Given the description of an element on the screen output the (x, y) to click on. 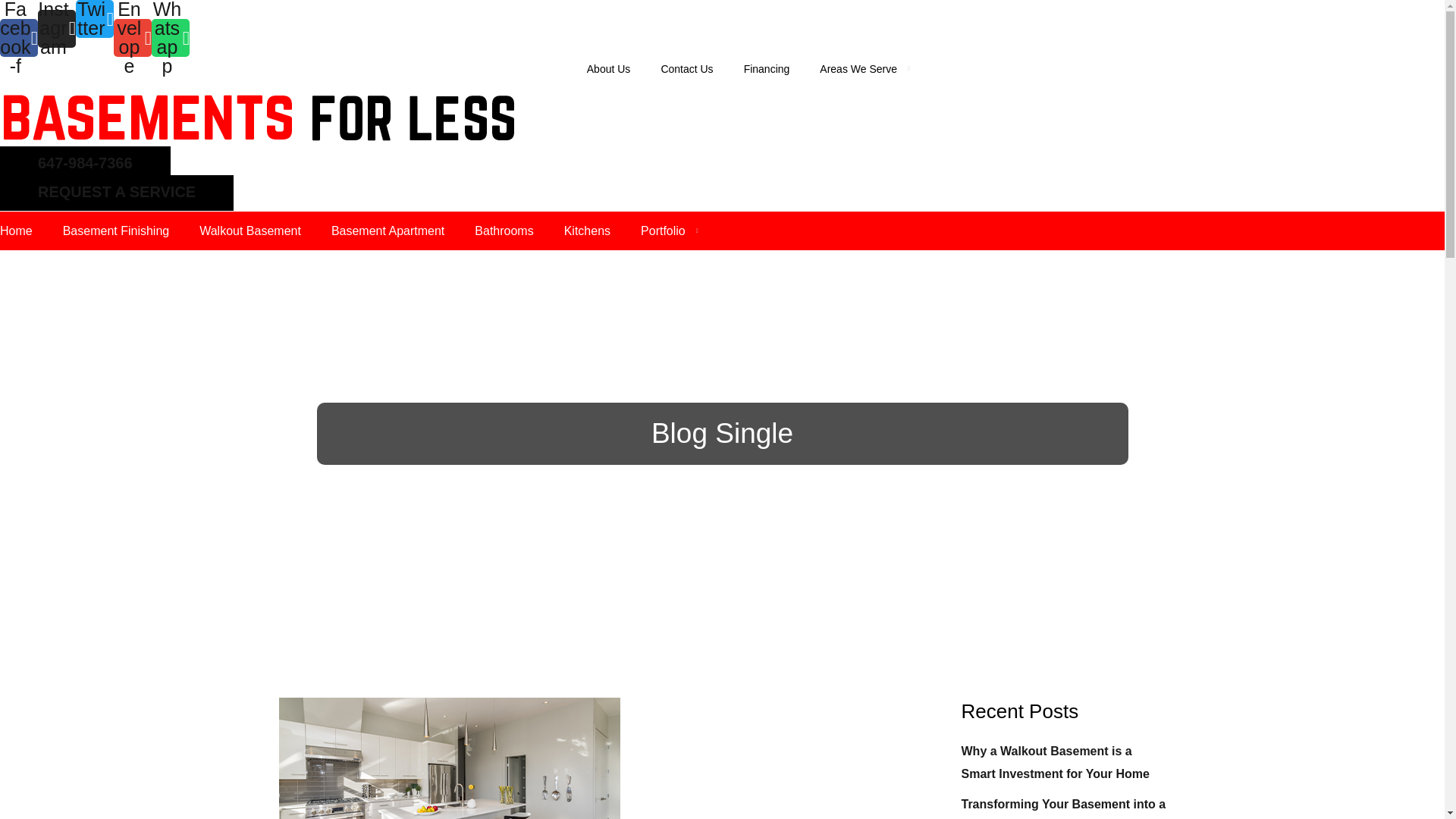
Contact Us (687, 68)
Basement Apartment (387, 231)
Twitter (94, 18)
647-984-7366 (85, 163)
Financing (767, 68)
Basement Finishing (116, 231)
About Us (608, 68)
Kitchens (587, 231)
Whatsapp (170, 37)
Portfolio (669, 231)
